Given the description of an element on the screen output the (x, y) to click on. 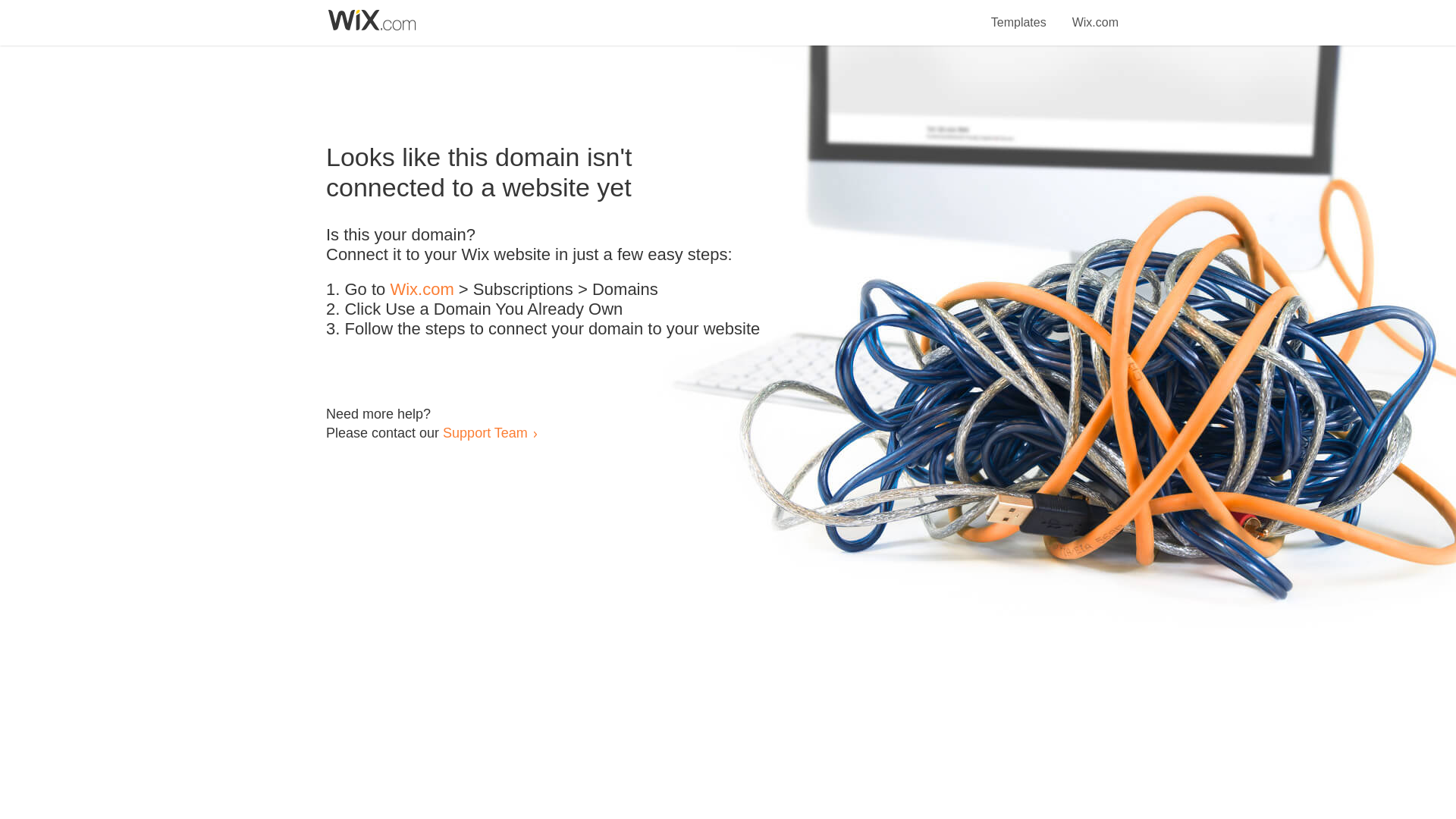
Wix.com (1095, 14)
Support Team (484, 432)
Wix.com (421, 289)
Templates (1018, 14)
